Given the description of an element on the screen output the (x, y) to click on. 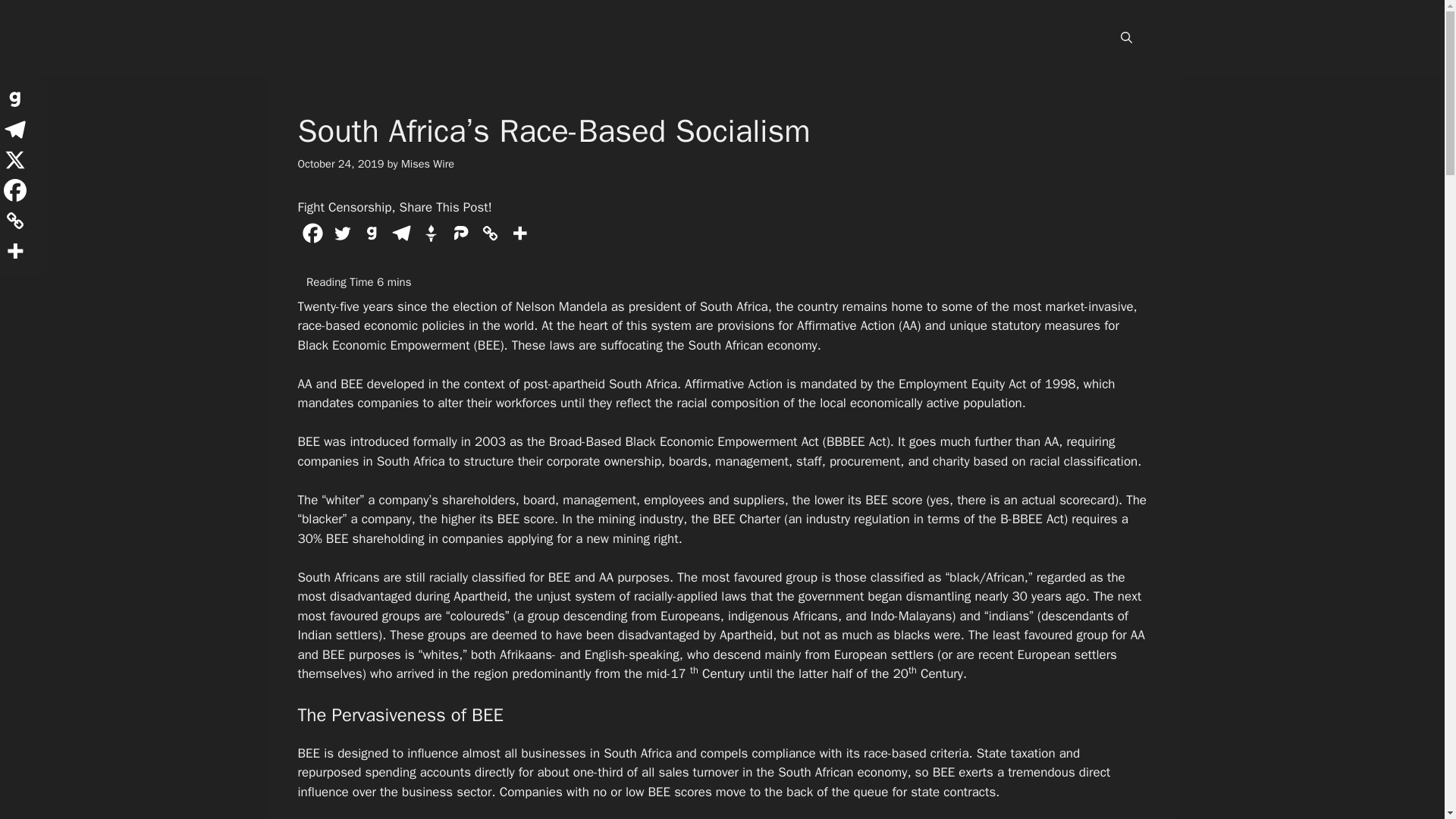
Mises Wire (427, 163)
Copy Link (489, 233)
Telegram (401, 233)
Parler (460, 233)
Twitter (342, 233)
View all posts by Mises Wire (427, 163)
Facebook (311, 233)
Gab (371, 233)
More (519, 233)
Gettr (430, 233)
